Given the description of an element on the screen output the (x, y) to click on. 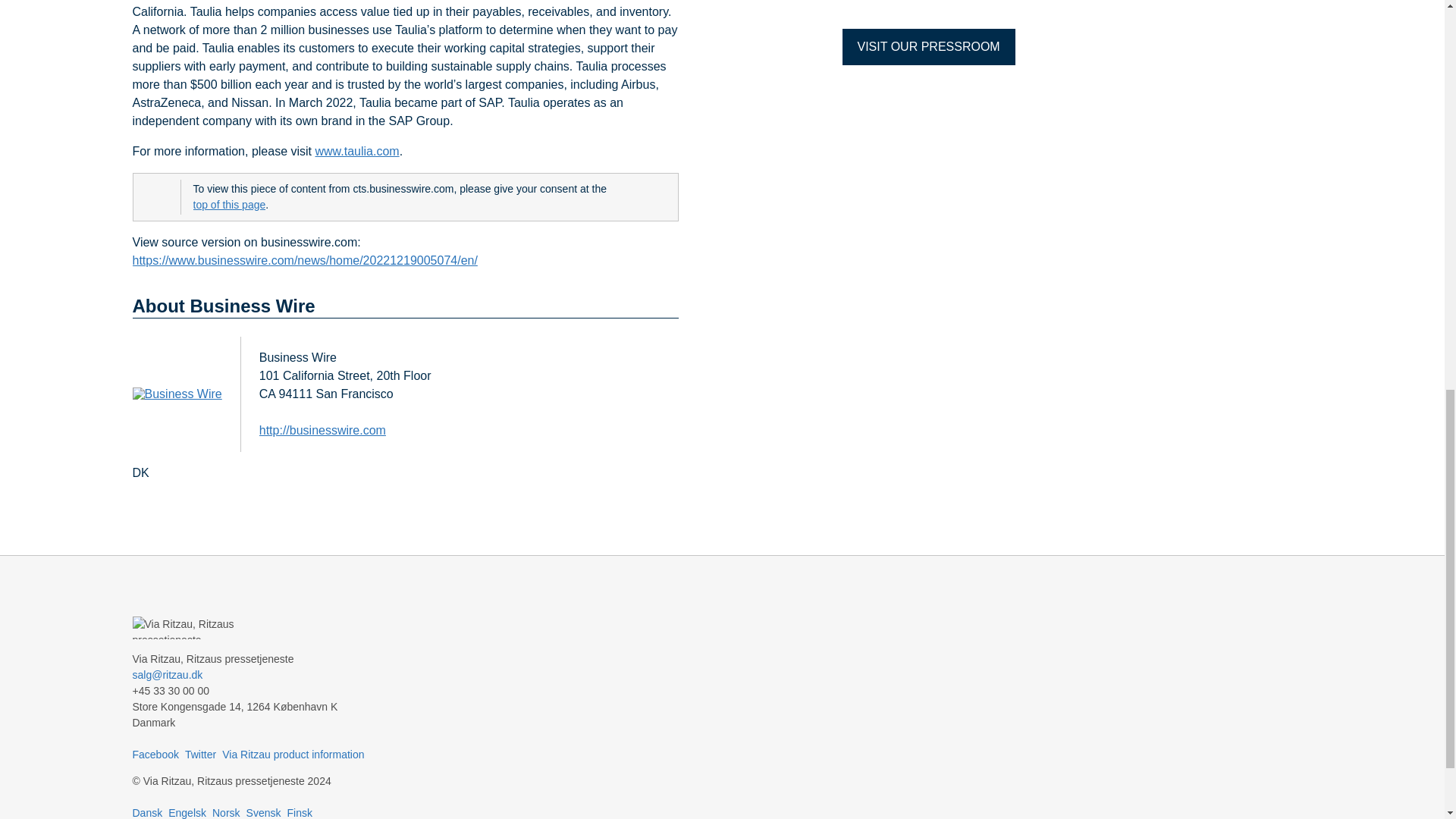
Norsk (226, 812)
VISIT OUR PRESSROOM (927, 46)
Finsk (298, 812)
Twitter (199, 754)
Via Ritzau product information (293, 754)
Svensk (263, 812)
Engelsk (187, 812)
top of this page (228, 204)
Facebook (154, 754)
Dansk (146, 812)
www.taulia.com (356, 151)
